Given the description of an element on the screen output the (x, y) to click on. 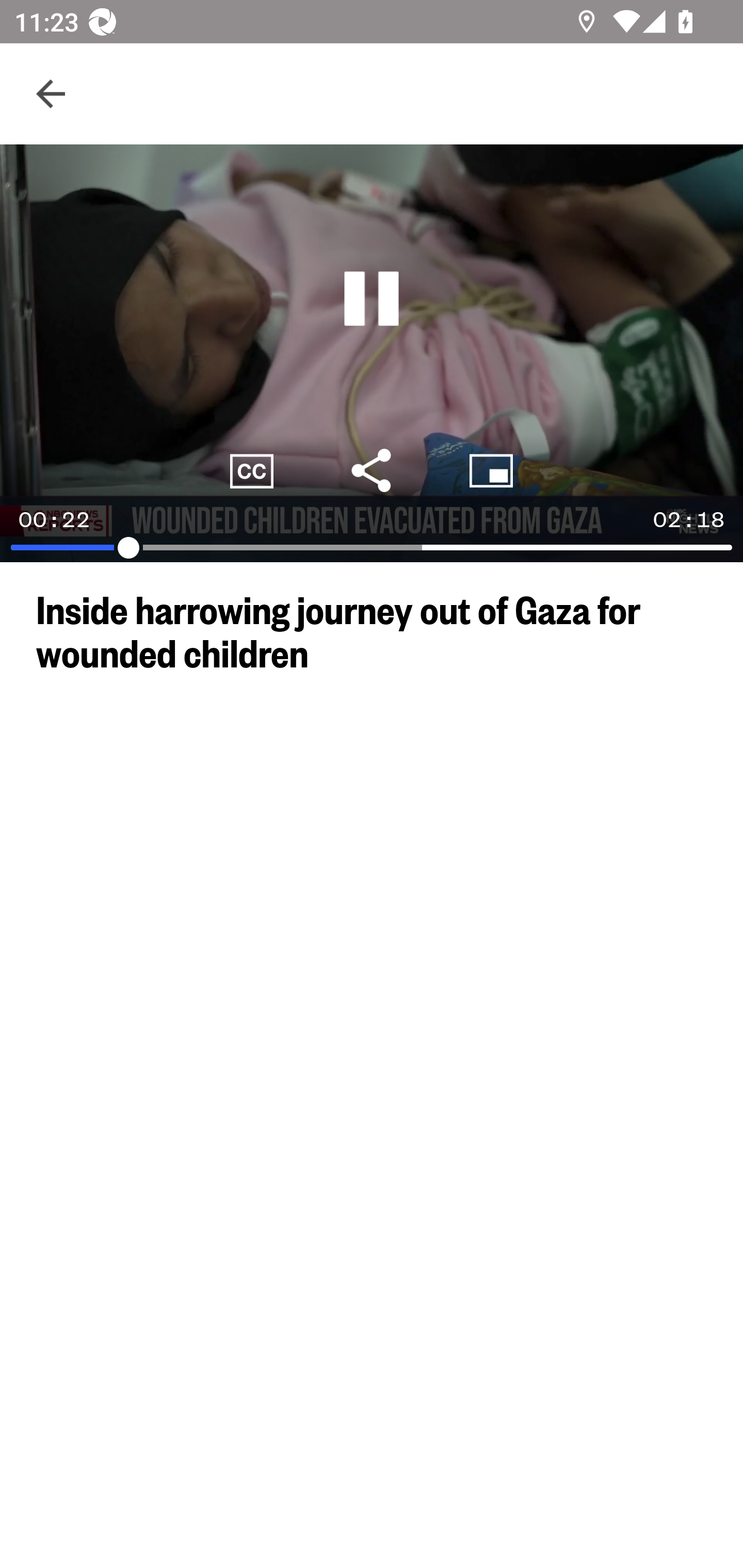
Navigate up (50, 93)
Pause (371, 298)
Closed Captions, ON (251, 470)
Share Media (371, 470)
Picture in Picture Media (490, 470)
